Given the description of an element on the screen output the (x, y) to click on. 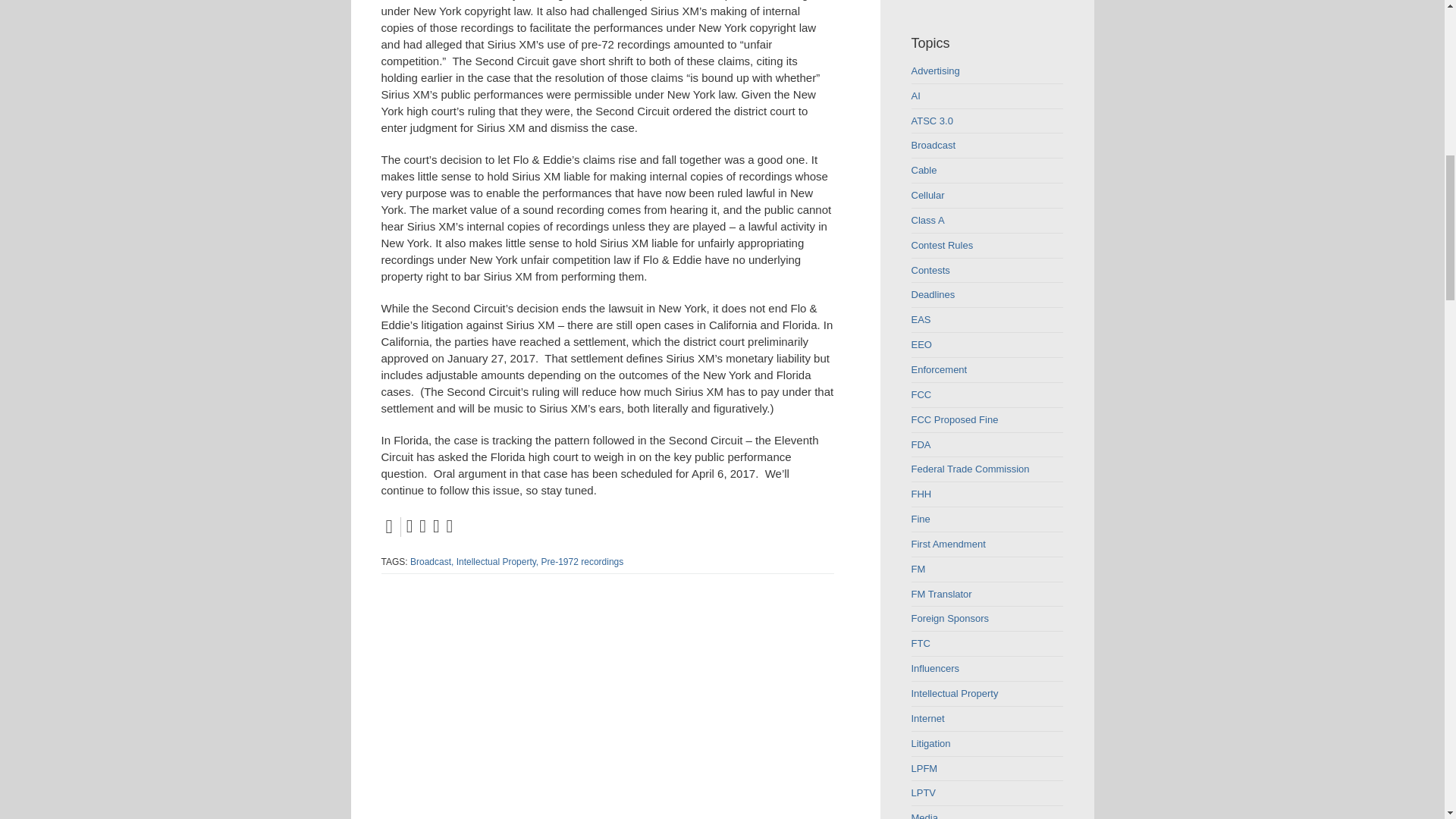
AI (986, 96)
Advertising (986, 71)
Intellectual Property, (497, 561)
Pre-1972 recordings (582, 561)
Broadcast, (431, 561)
